Given the description of an element on the screen output the (x, y) to click on. 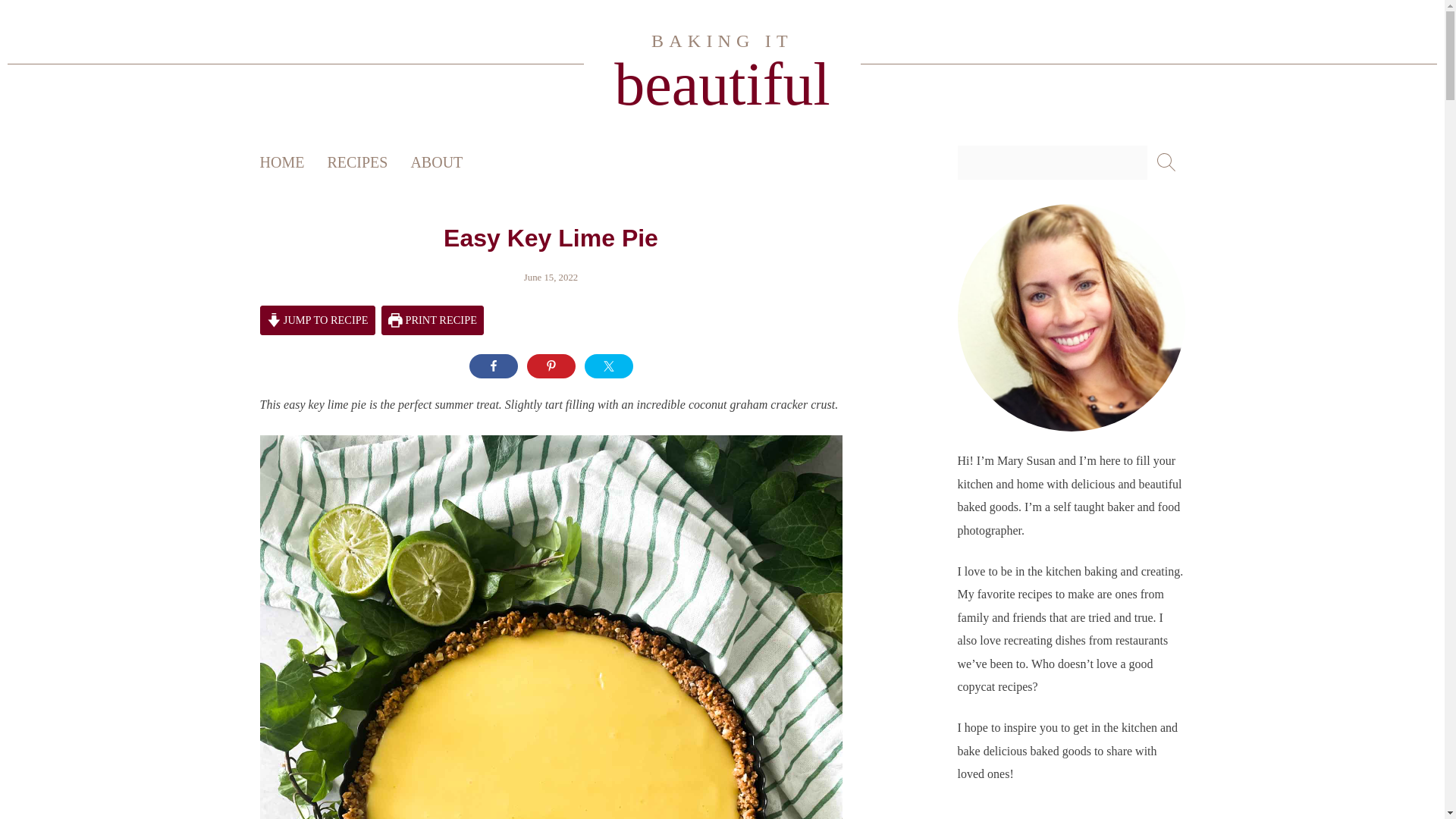
RECIPES (368, 162)
PRINT RECIPE (432, 319)
Search (37, 18)
JUMP TO RECIPE (316, 319)
Share on Twitter (607, 365)
Share on Pinterest (550, 365)
HOME (292, 162)
ABOUT (447, 162)
Share on Facebook (721, 63)
